Given the description of an element on the screen output the (x, y) to click on. 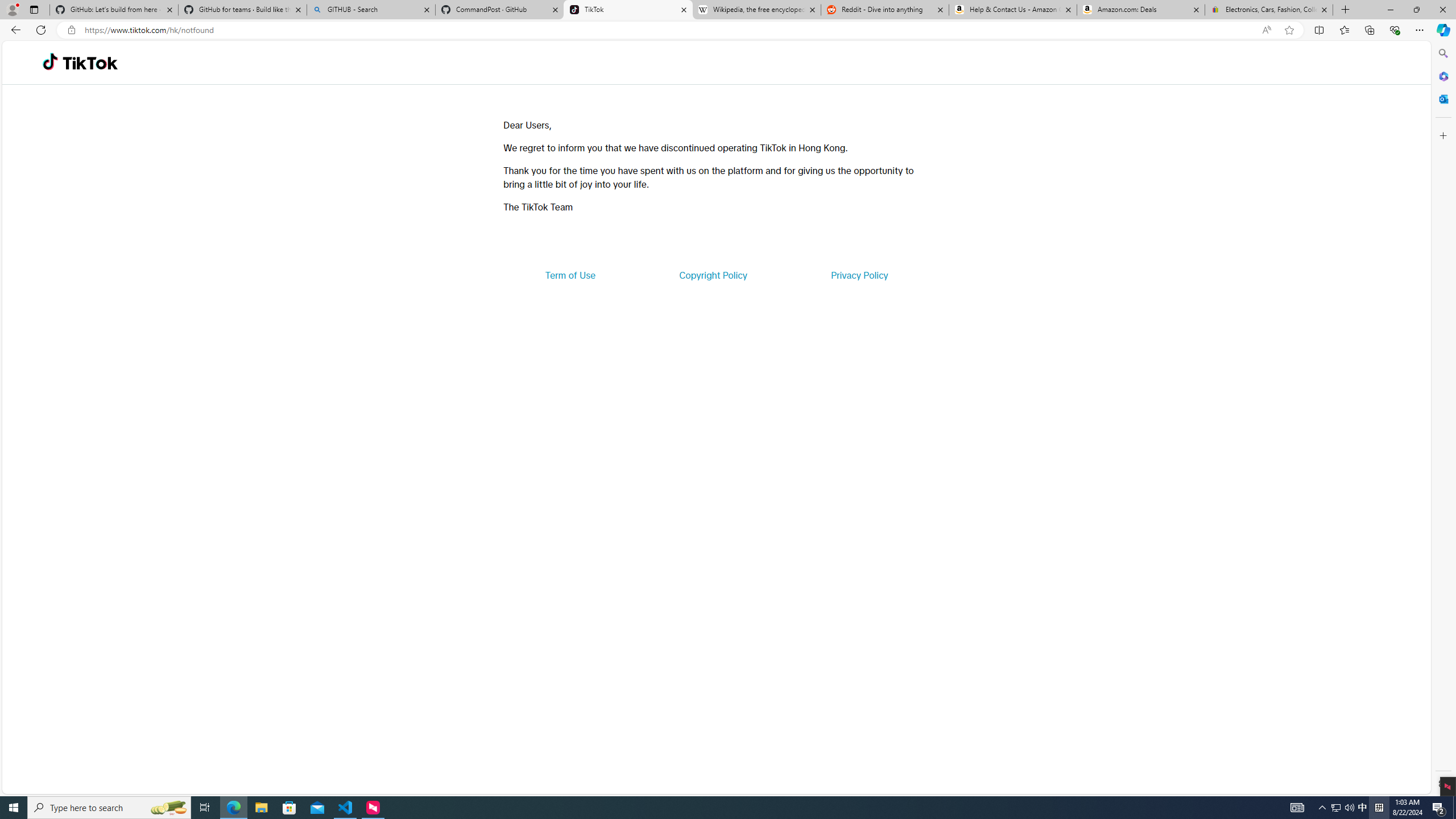
Privacy Policy (858, 274)
